Given the description of an element on the screen output the (x, y) to click on. 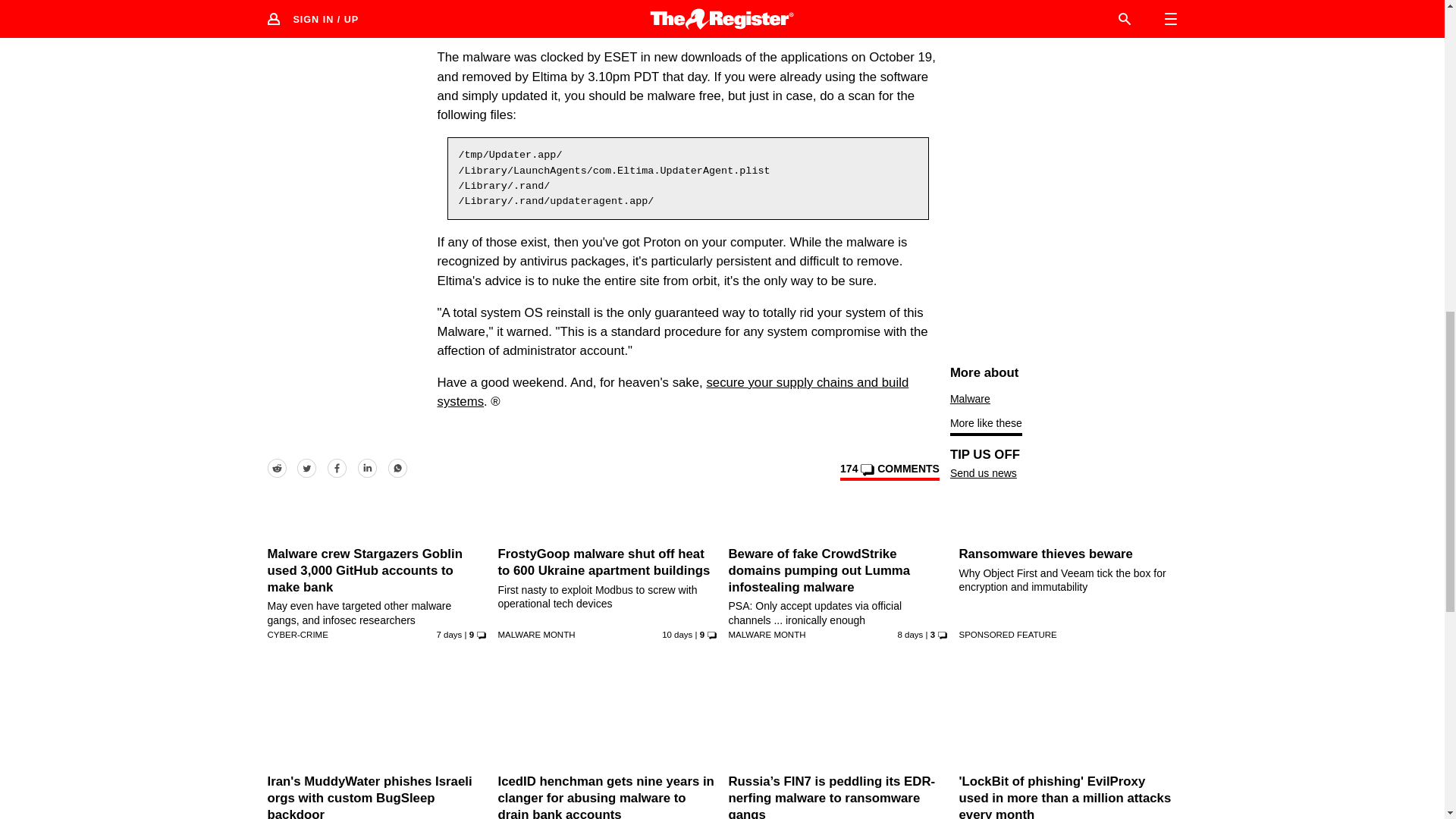
23 Jul 2024 9:0 (677, 634)
25 Jul 2024 22:30 (910, 634)
View comments on this article (889, 471)
26 Jul 2024 1:34 (449, 634)
